Given the description of an element on the screen output the (x, y) to click on. 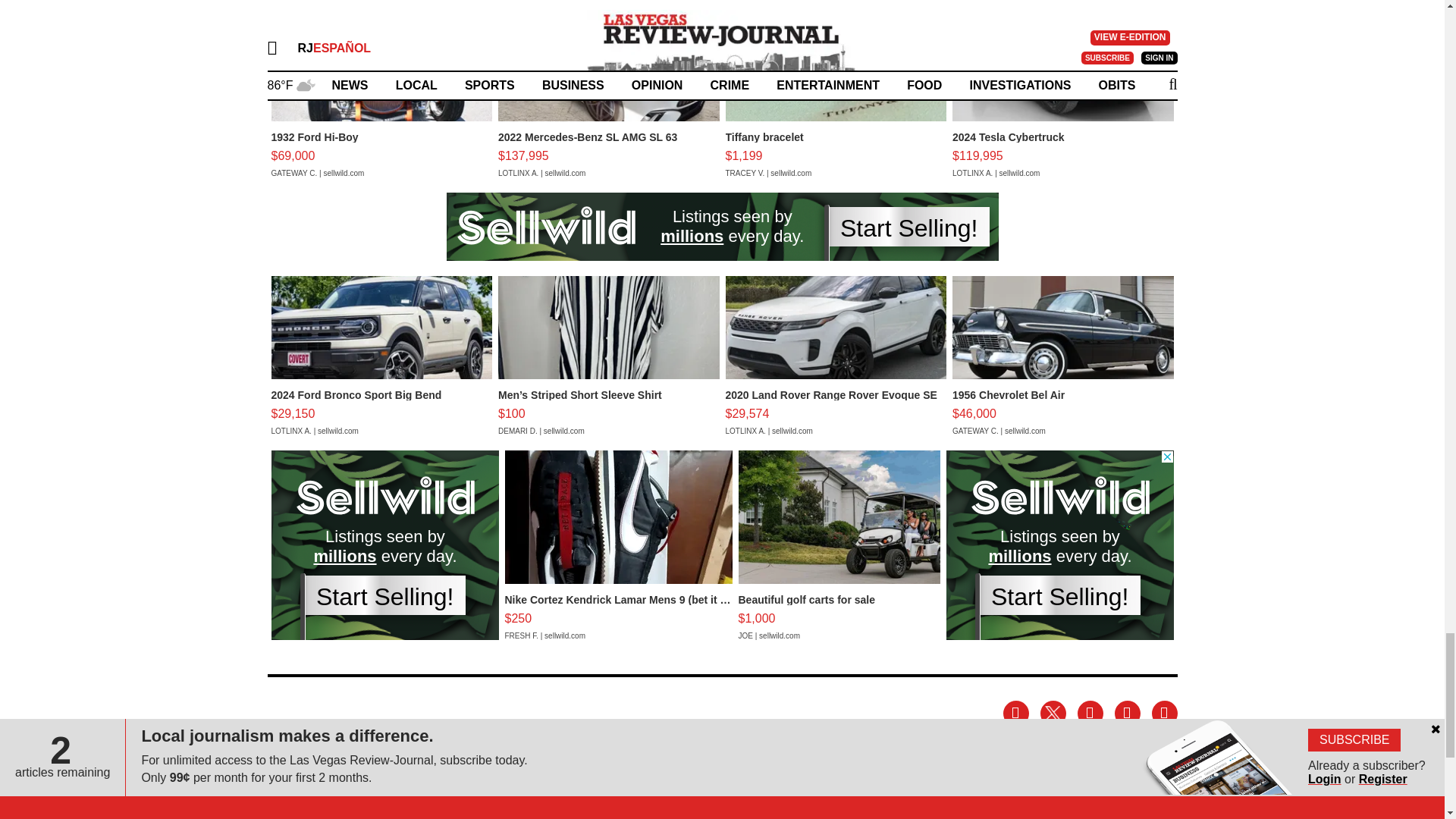
3rd party ad content (1059, 544)
3rd party ad content (384, 544)
3rd party ad content (721, 226)
